Given the description of an element on the screen output the (x, y) to click on. 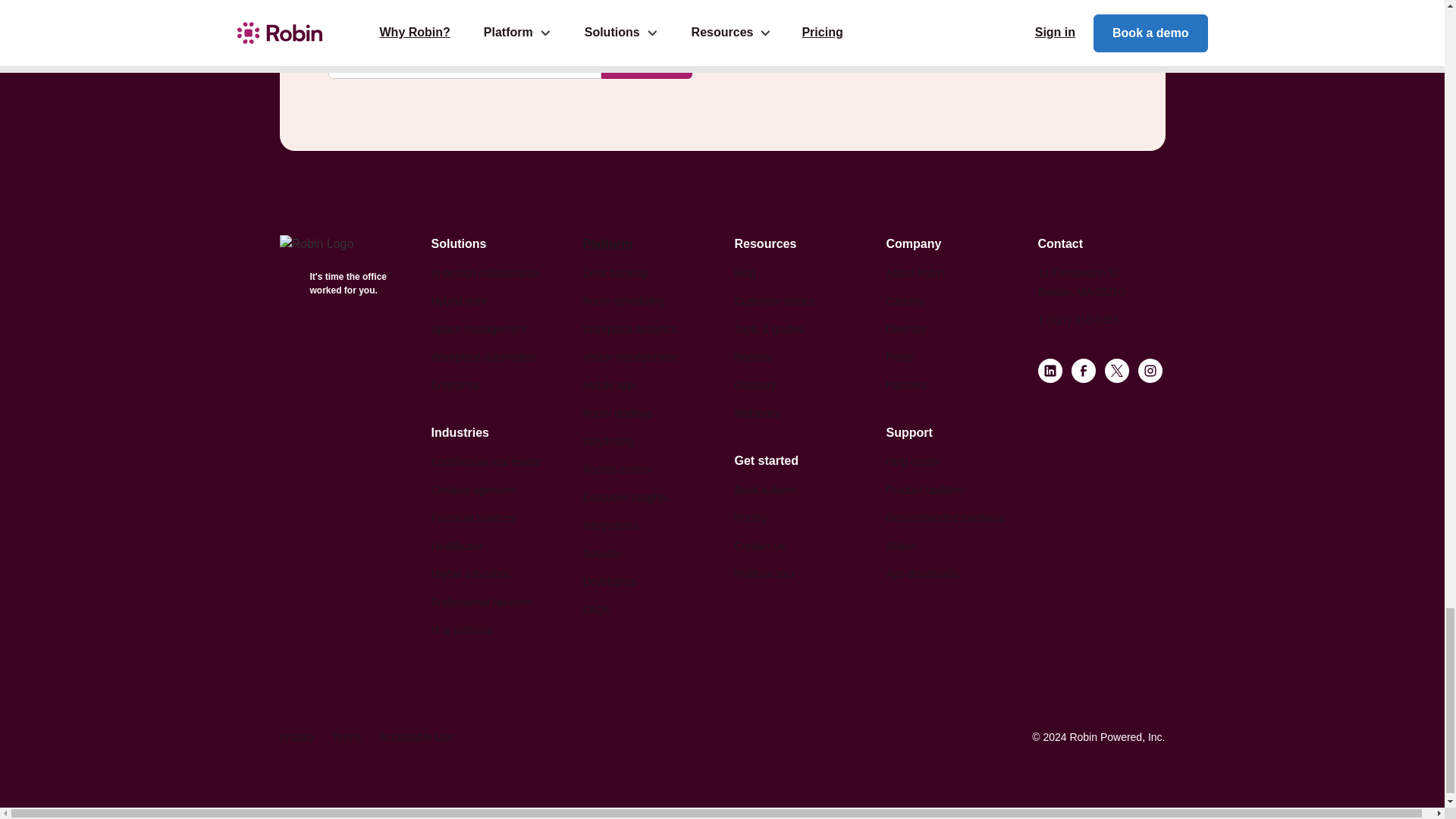
Subscribe (646, 61)
